Given the description of an element on the screen output the (x, y) to click on. 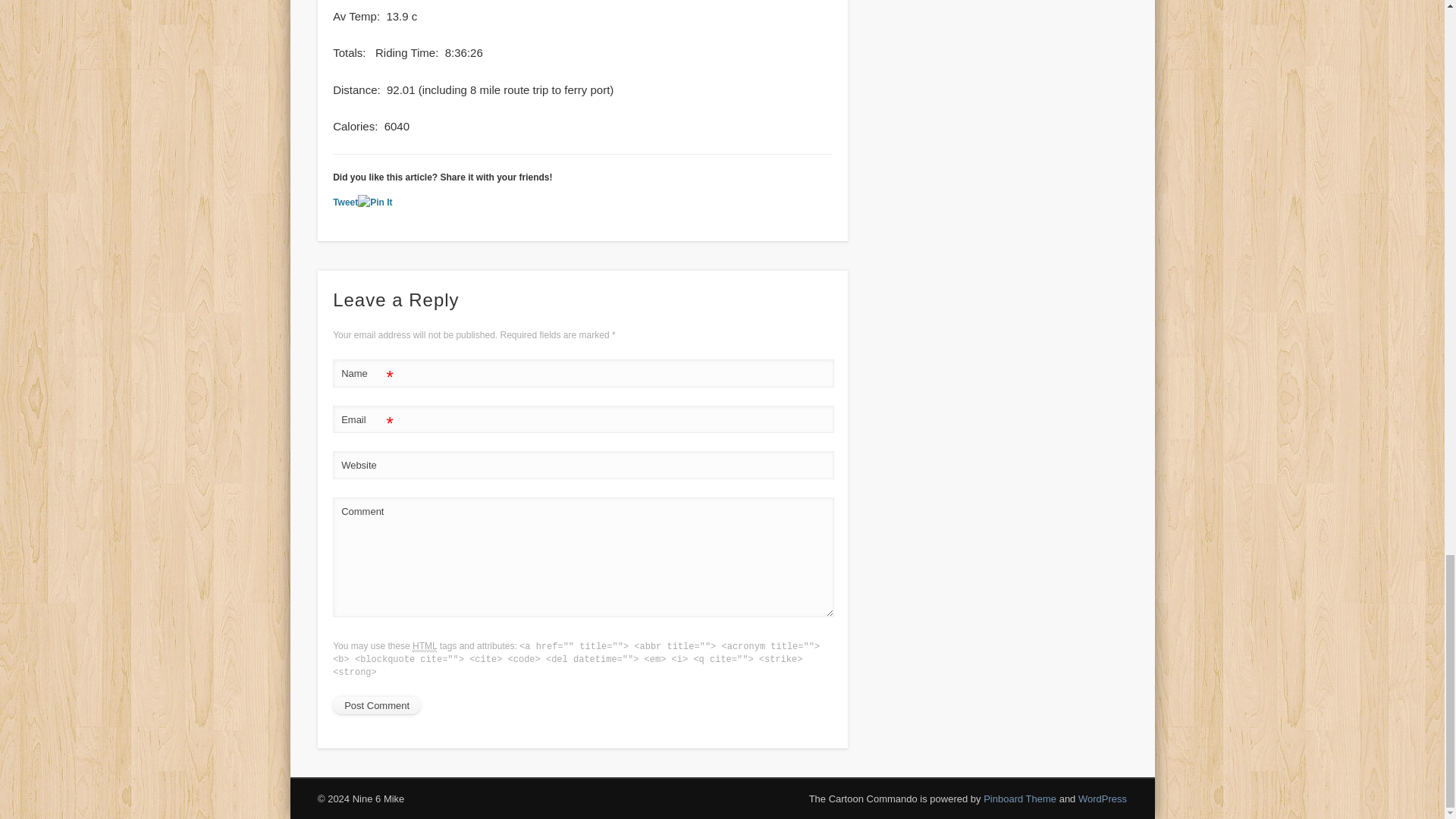
WordPress (1102, 798)
Pin It (374, 202)
HyperText Markup Language (424, 645)
Tweet (345, 202)
Pinboard Theme (1020, 798)
Post Comment (376, 705)
Post Comment (376, 705)
Pinboard Theme (1020, 798)
WordPress (1102, 798)
